Given the description of an element on the screen output the (x, y) to click on. 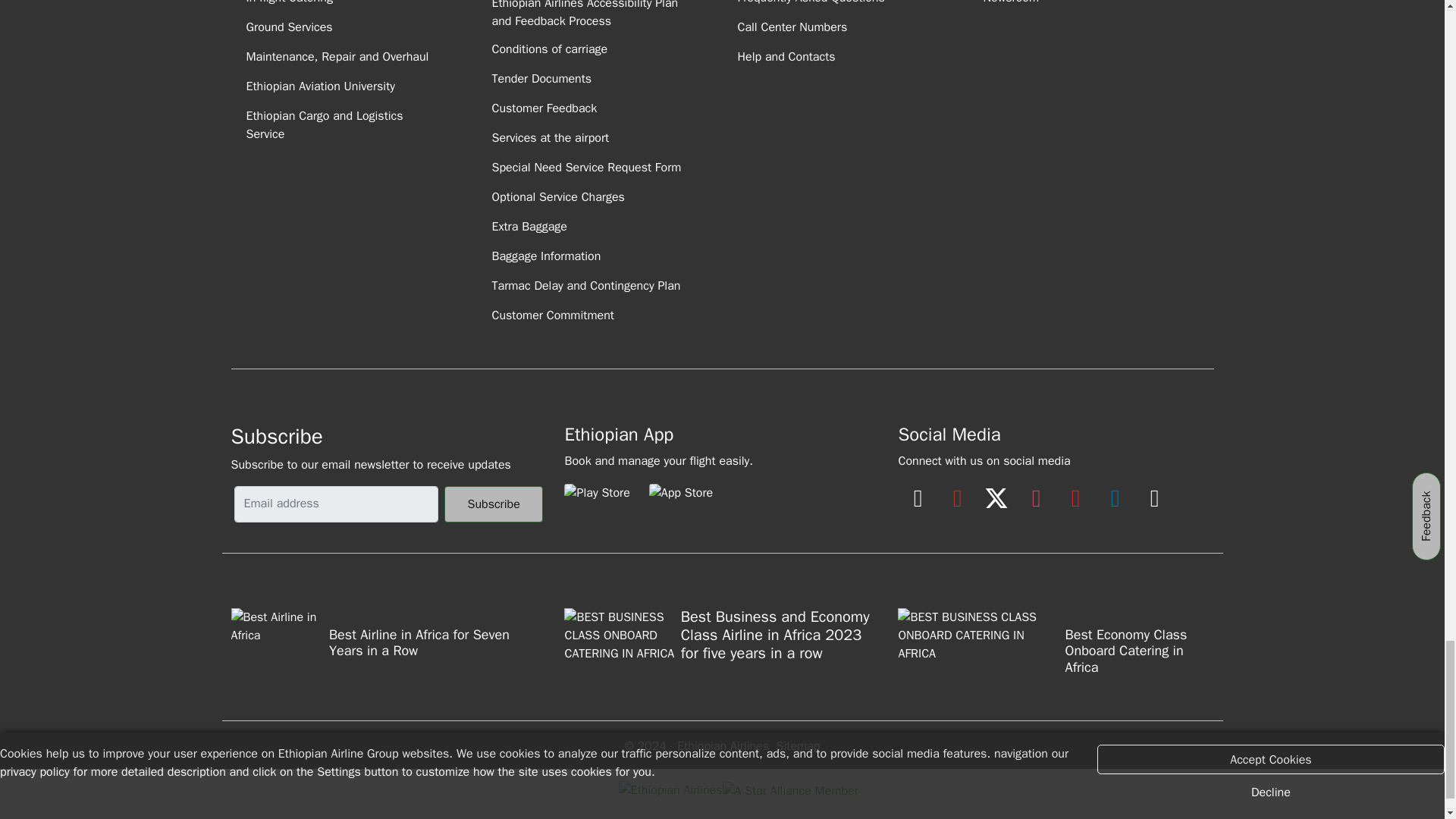
BEST BUSINESS CLASS ONBOARD CATERING IN AFRICA (979, 645)
A Star Alliance Member (789, 791)
Twitter (996, 485)
BEST BUSINESS CLASS ONBOARD CATERING IN AFRICA (621, 645)
Best Airline in Africa for Five Years in a Row (277, 644)
